Given the description of an element on the screen output the (x, y) to click on. 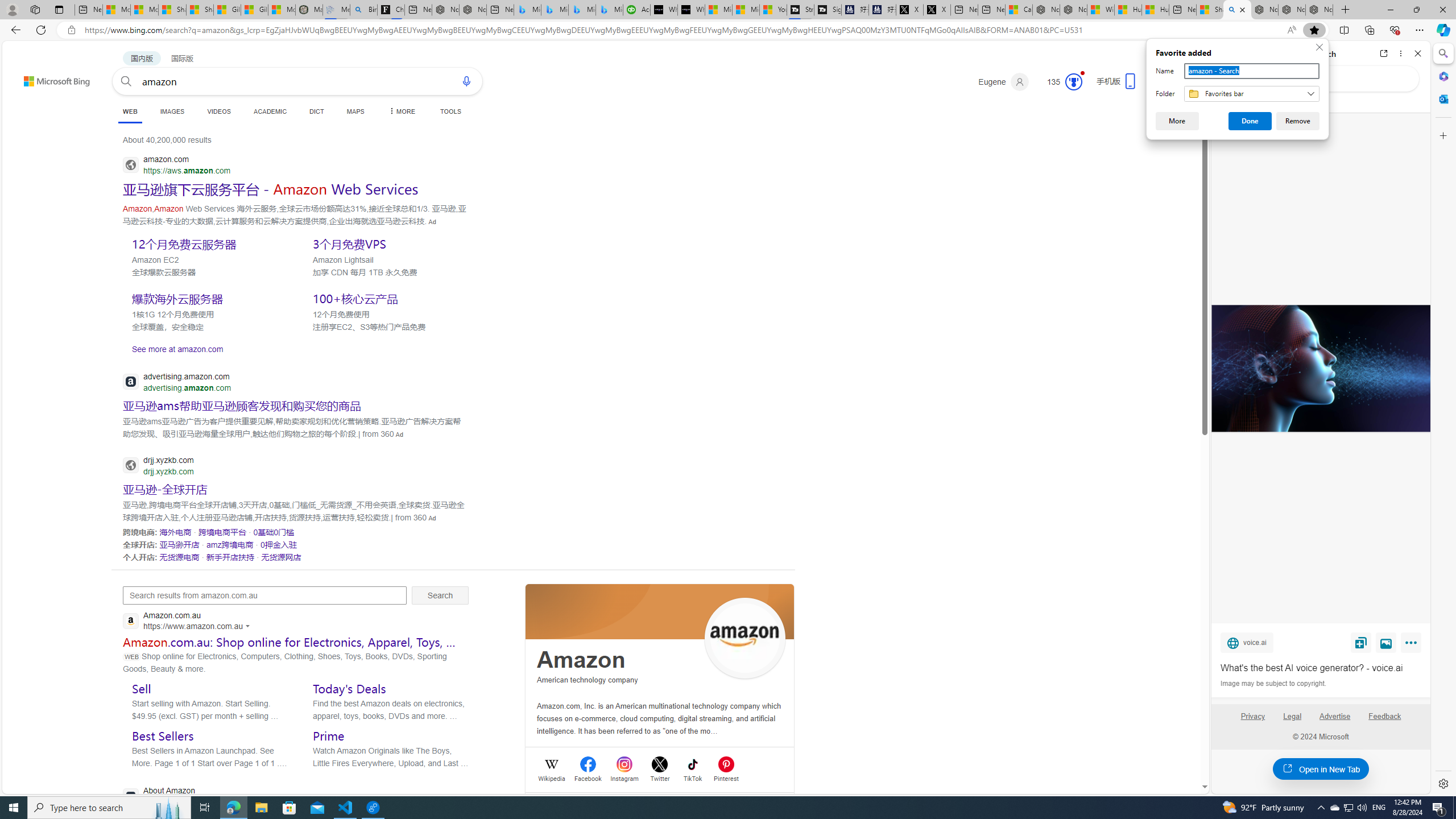
Bing Real Estate - Home sales and rental listings (363, 9)
Remove (1297, 121)
IMAGES (172, 111)
Search more (1179, 753)
Class: outer-circle-animation (1073, 81)
SERP,5574 (280, 556)
Favorite name (1251, 71)
User Promoted Notification Area (1347, 807)
